Given the description of an element on the screen output the (x, y) to click on. 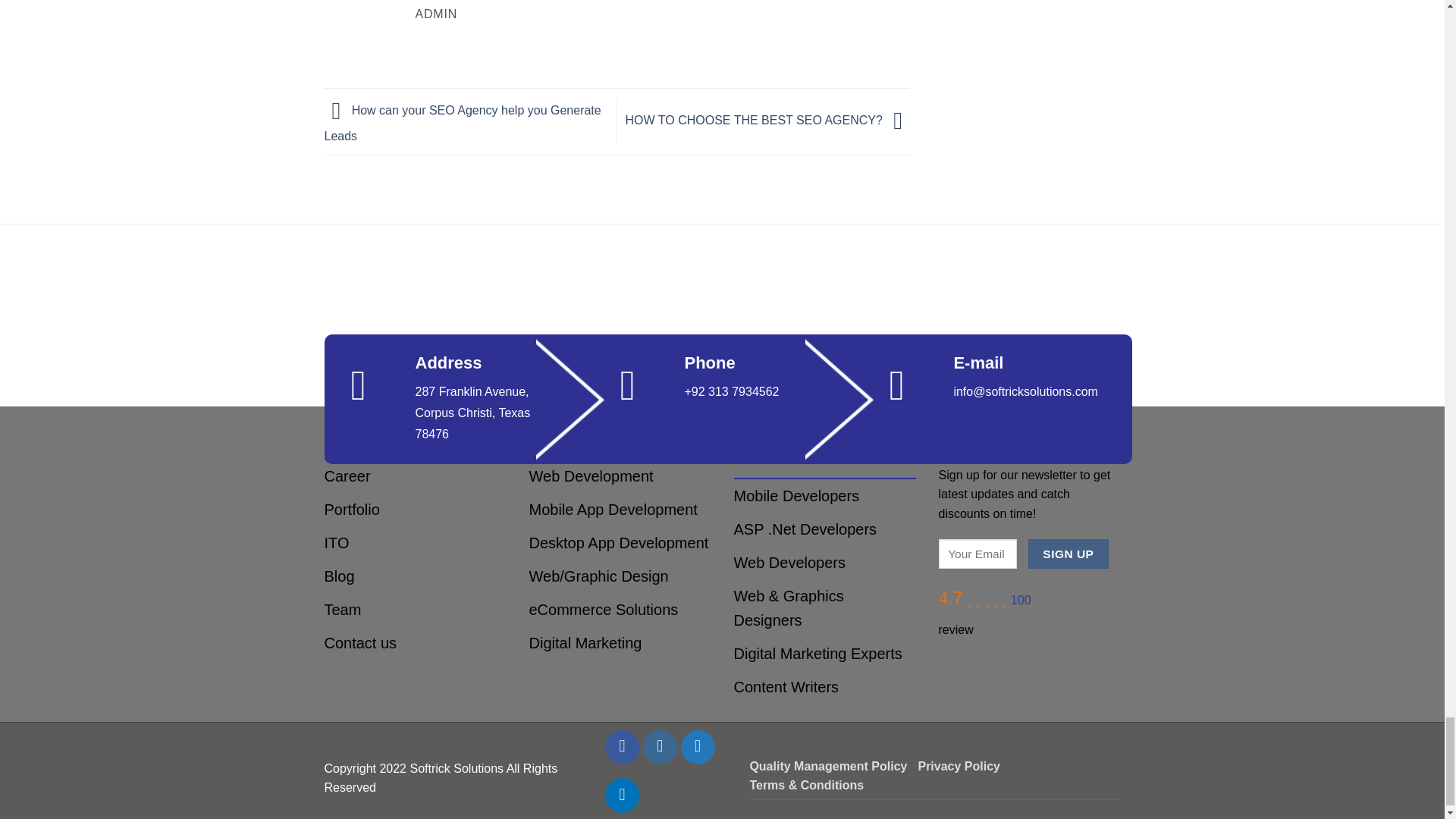
Sign Up (1067, 553)
